Given the description of an element on the screen output the (x, y) to click on. 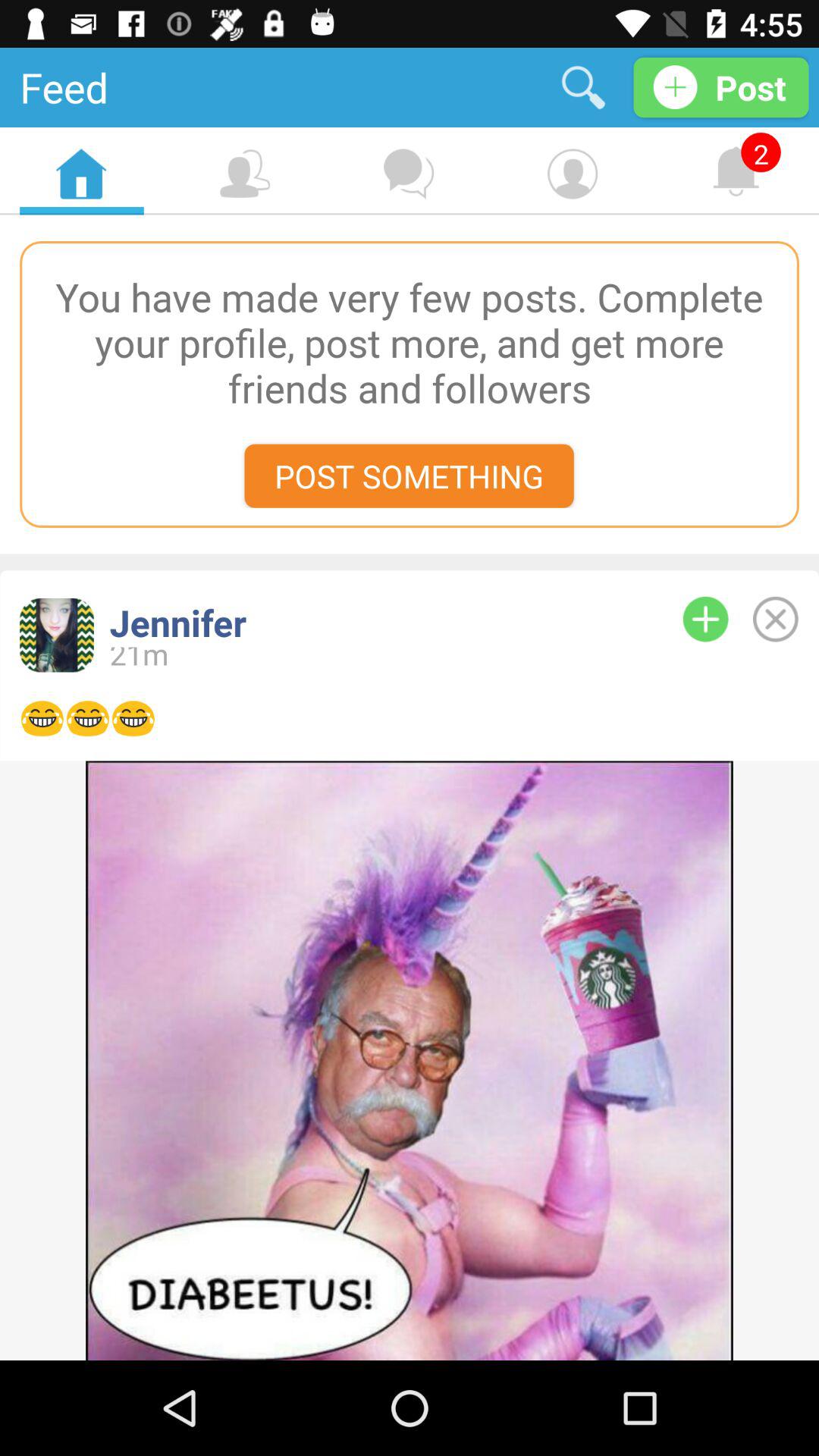
press the item to the right of the feed app (583, 87)
